Given the description of an element on the screen output the (x, y) to click on. 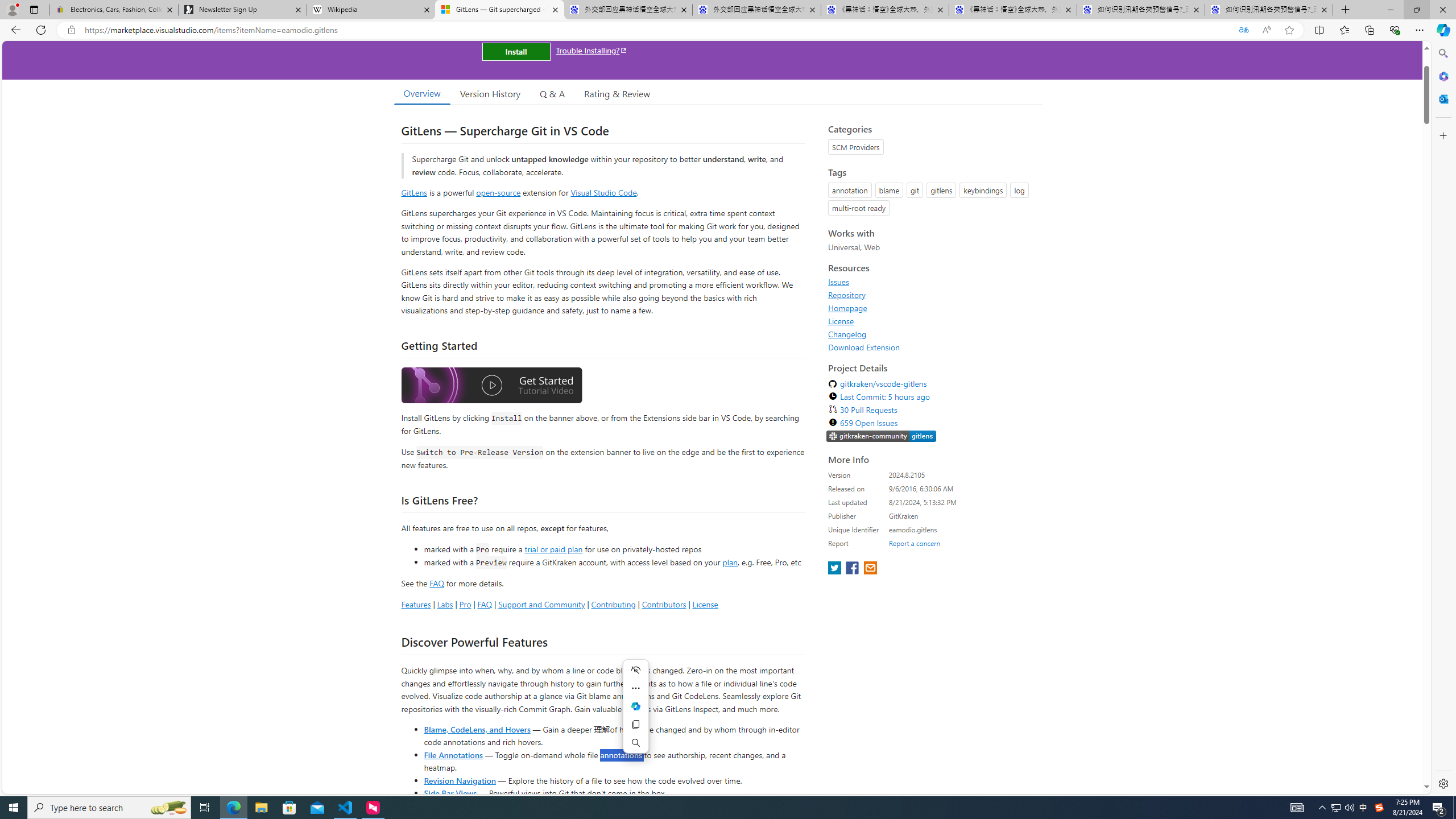
More actions (635, 687)
Issues (838, 281)
Report a concern (914, 542)
Side Bar Views (449, 792)
Issues (931, 281)
https://slack.gitkraken.com// (881, 436)
Translated (1243, 29)
